Given the description of an element on the screen output the (x, y) to click on. 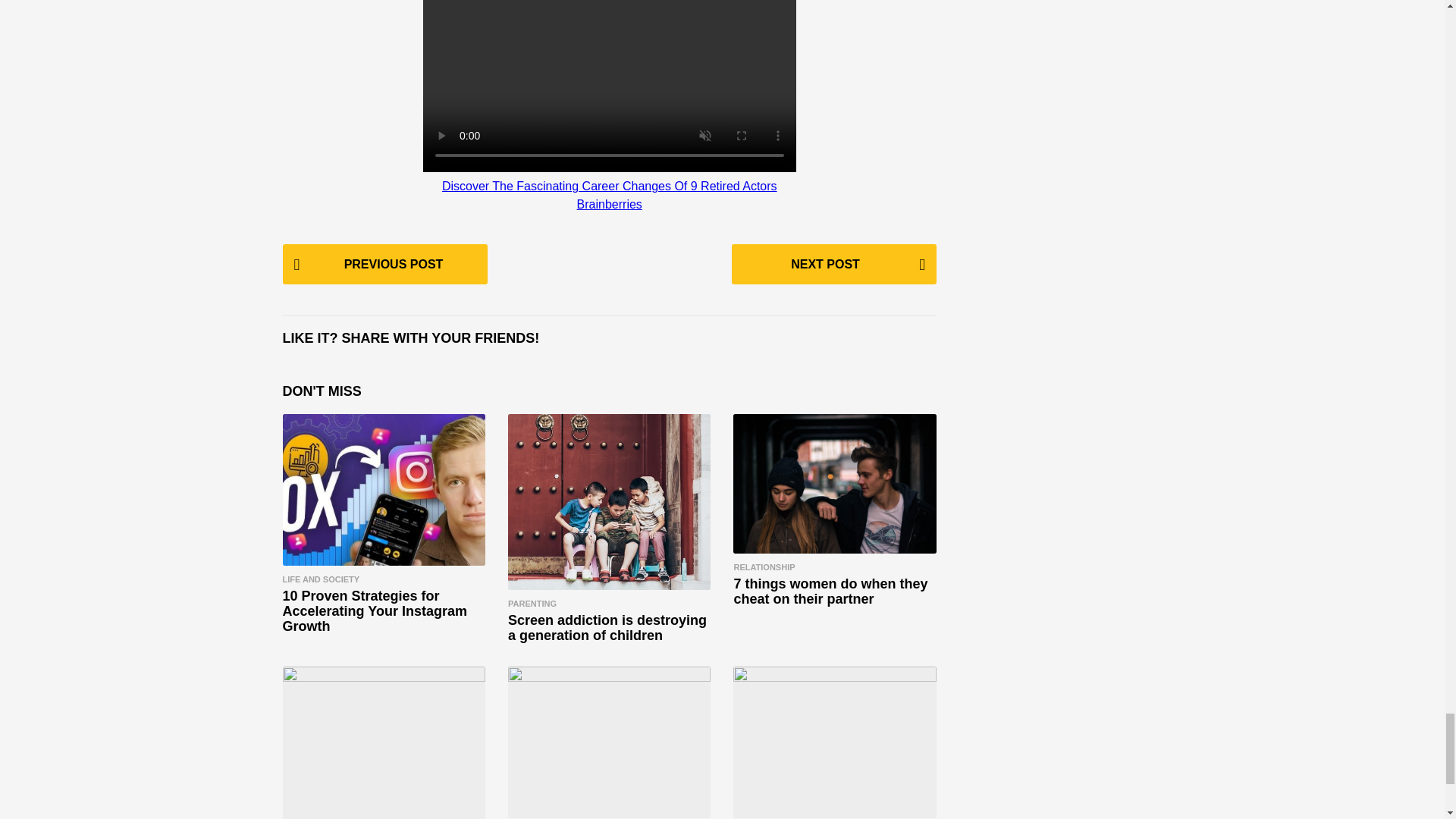
10 Proven Strategies for Accelerating Your Instagram Growth (383, 490)
PARENTING (532, 603)
Screen addiction is destroying a generation of children (607, 627)
10 Proven Strategies for Accelerating Your Instagram Growth (373, 610)
7 things women do when they cheat on their partner (834, 483)
NEXT POST (834, 264)
PREVIOUS POST (384, 264)
LIFE AND SOCIETY (320, 578)
RELATIONSHIP (763, 566)
7 types of violent men to avoid and how to recognize them (383, 742)
Perfect ways to show your love (609, 742)
Screen addiction is destroying a generation of children (609, 501)
